Given the description of an element on the screen output the (x, y) to click on. 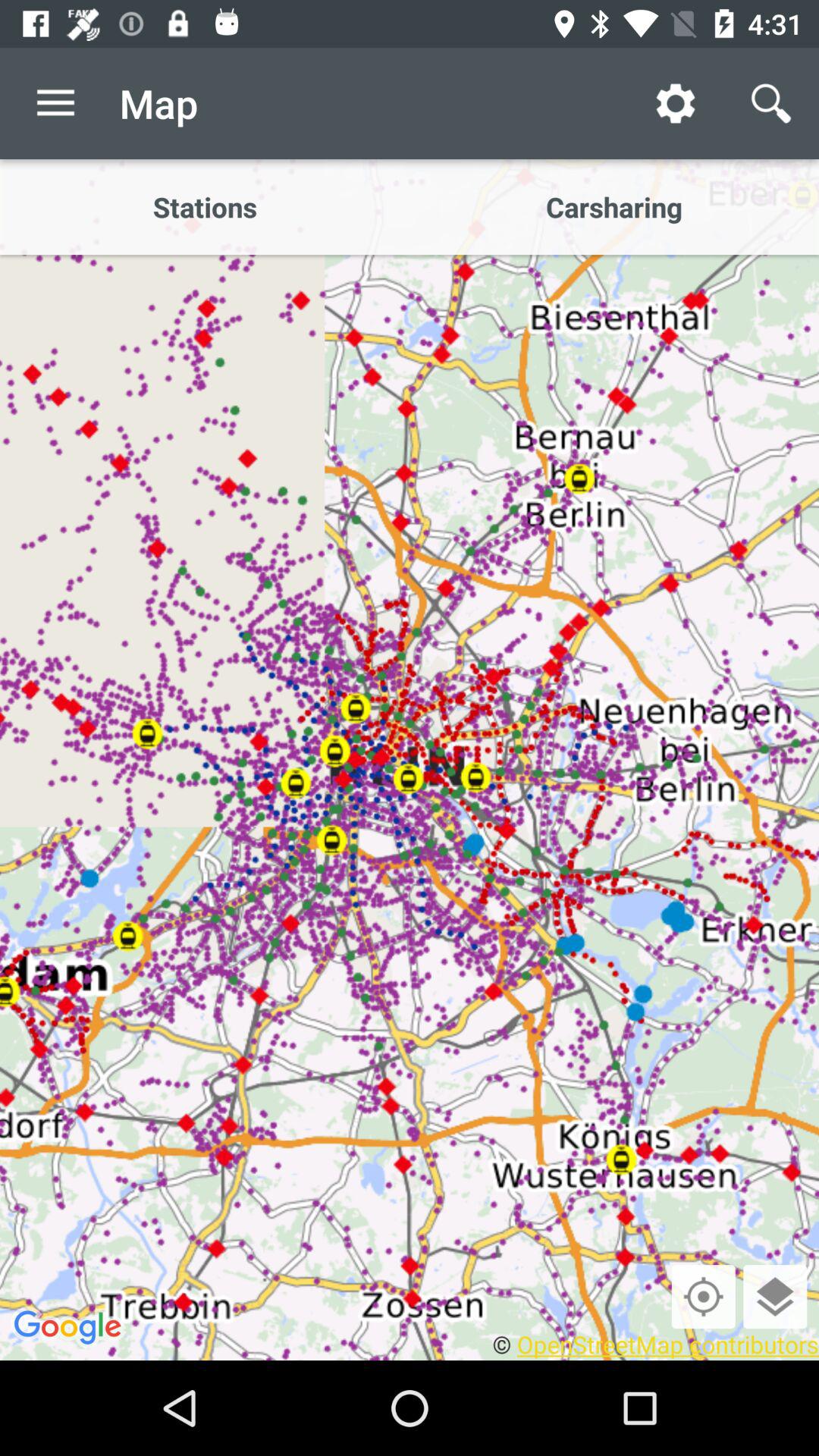
find current location (703, 1296)
